Given the description of an element on the screen output the (x, y) to click on. 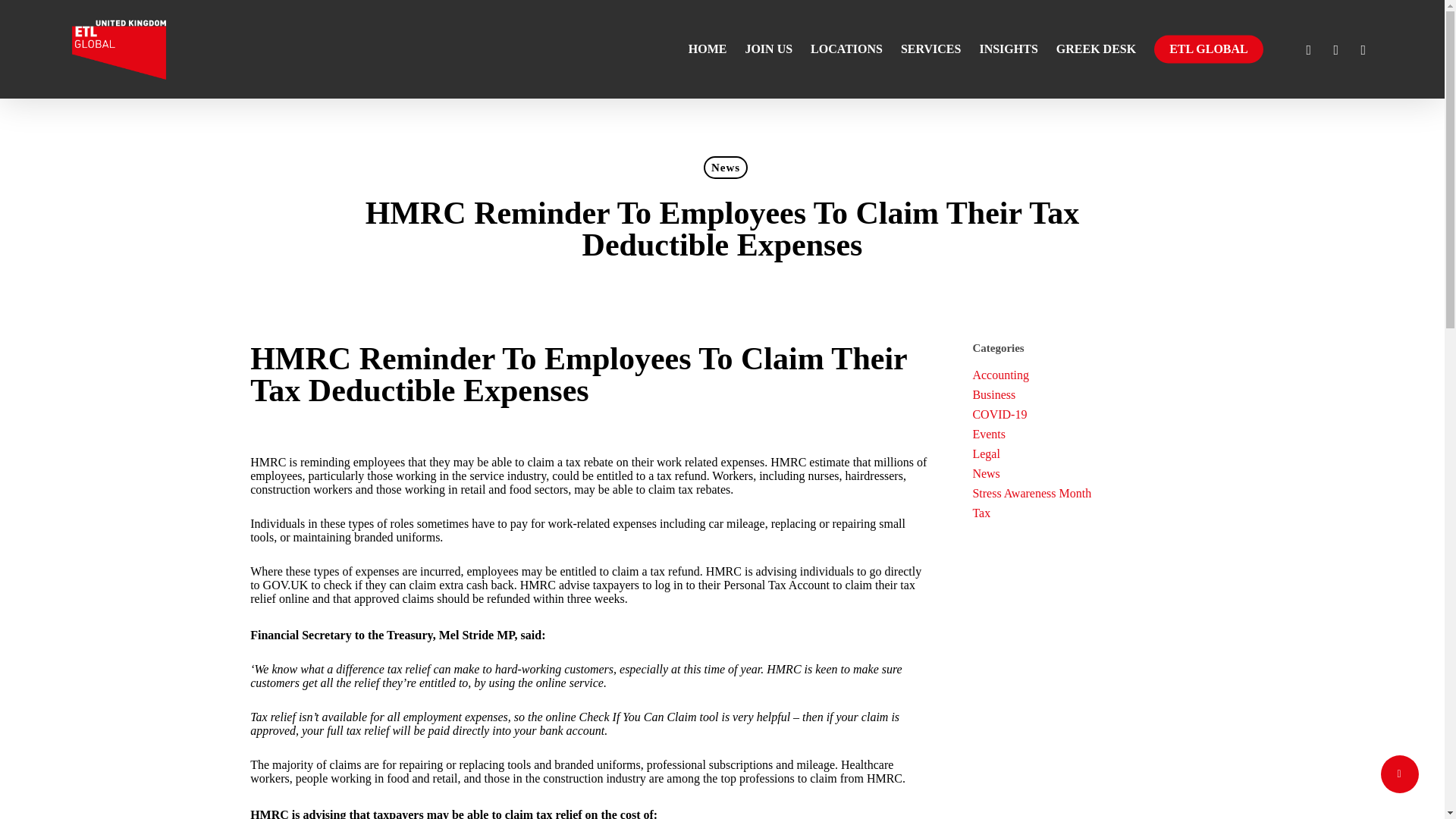
Phone (1335, 48)
INSIGHTS (1007, 49)
News (1082, 473)
SERVICES (930, 49)
Accounting (1082, 375)
Stress Awareness Month (1082, 493)
GREEK DESK (1095, 49)
JOIN US (768, 49)
Legal (1082, 454)
News (725, 167)
Tax (1082, 513)
Linkedin (1308, 48)
ETL GLOBAL (1208, 49)
LOCATIONS (846, 49)
Email (1363, 48)
